Given the description of an element on the screen output the (x, y) to click on. 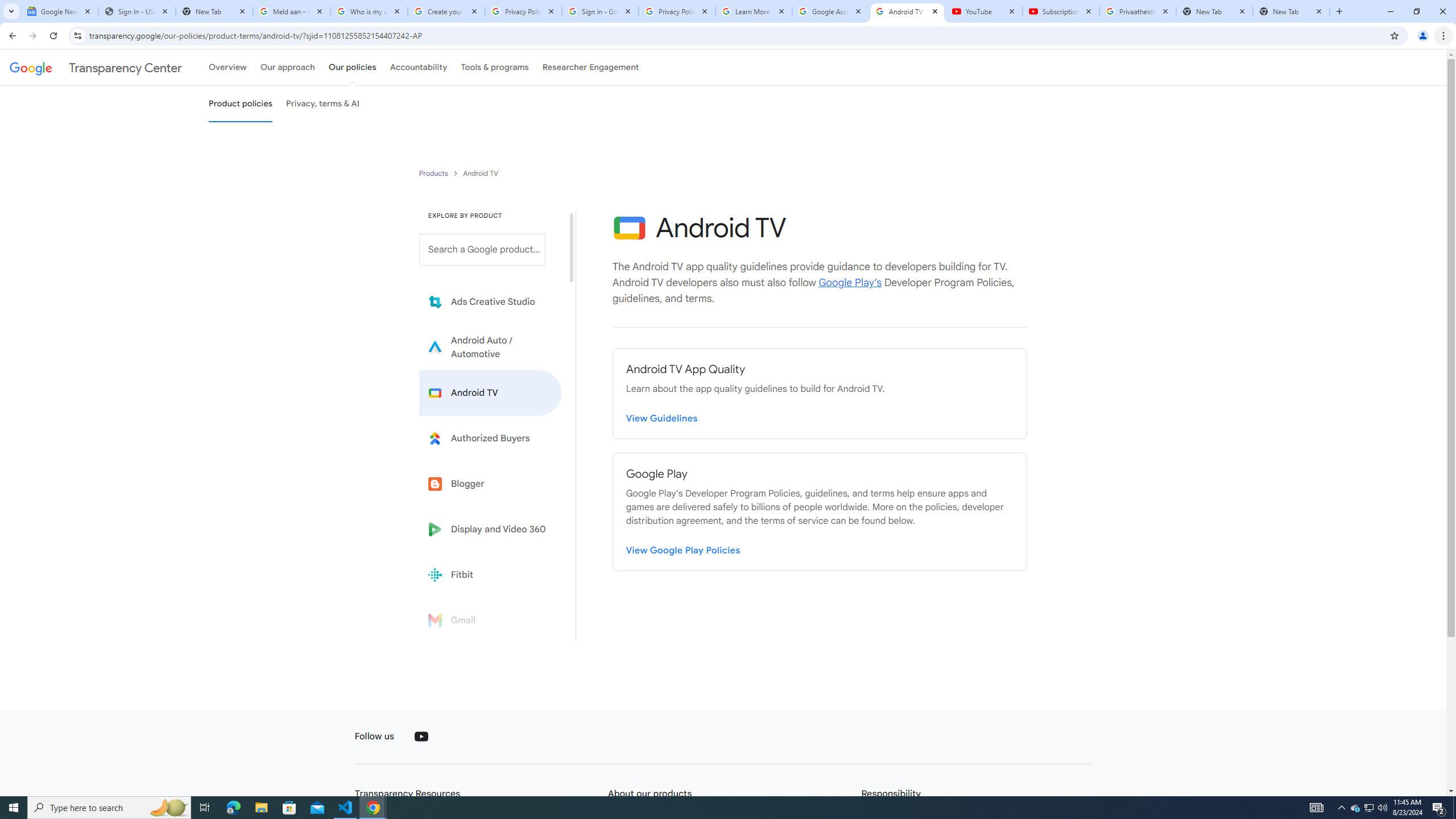
Learn more about Android Auto (490, 347)
YouTube (421, 736)
Learn more about Ads Creative Studio (490, 302)
Fitbit (490, 574)
Create your Google Account (446, 11)
Tools & programs (494, 67)
Researcher Engagement (590, 67)
Learn more about Android Auto (490, 347)
Learn more about Android TV (490, 393)
